Given the description of an element on the screen output the (x, y) to click on. 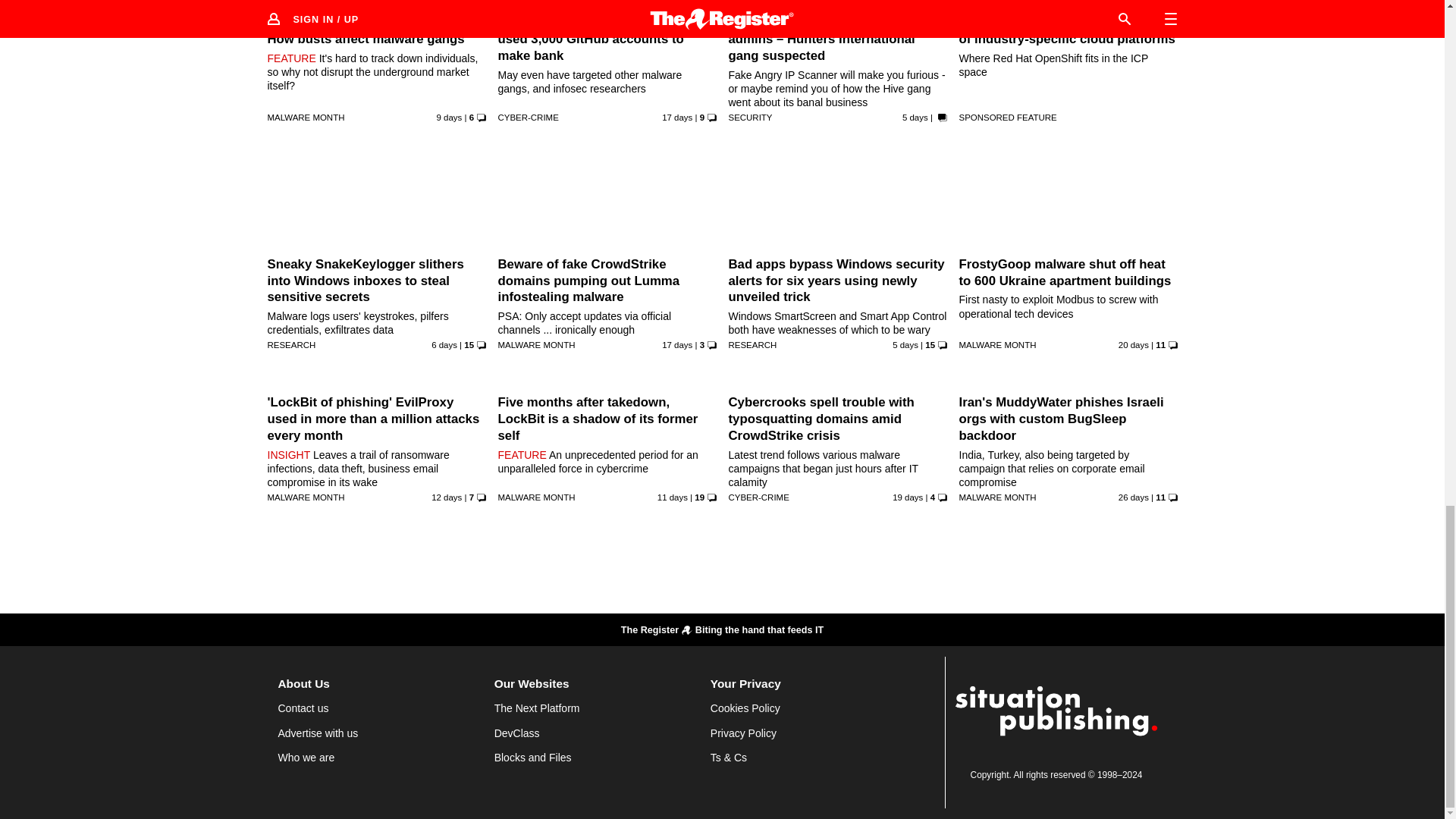
6 Aug 2024 14:41 (905, 344)
25 Jul 2024 22:30 (677, 344)
26 Jul 2024 1:34 (677, 117)
2 Aug 2024 14:44 (449, 117)
5 Aug 2024 14:28 (443, 344)
23 Jul 2024 9:0 (1133, 344)
30 Jul 2024 14:33 (445, 497)
7 Aug 2024 5:29 (915, 117)
31 Jul 2024 14:14 (672, 497)
